Given the description of an element on the screen output the (x, y) to click on. 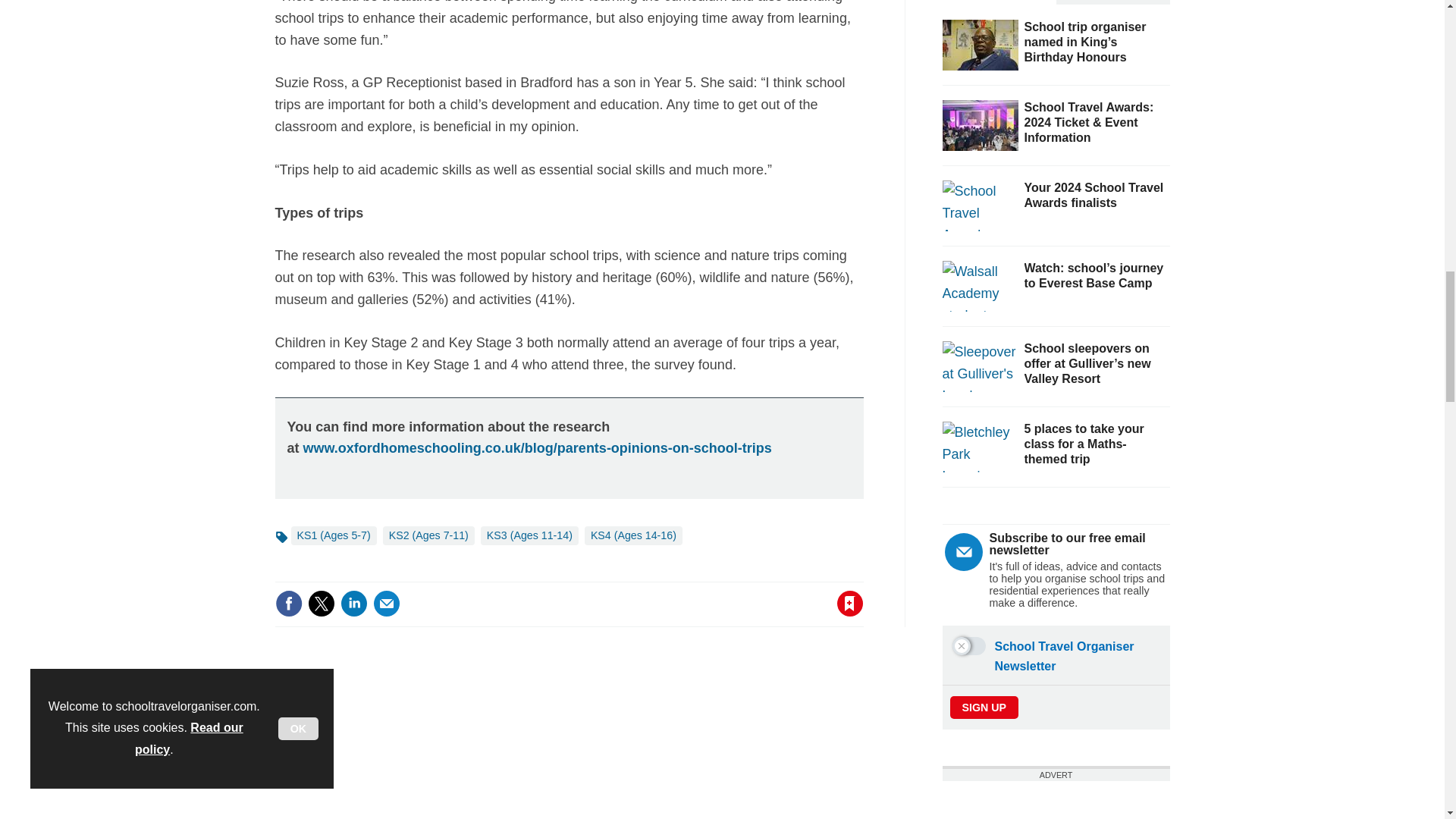
Oxford Home Schooling (536, 447)
3rd party ad content (1055, 800)
Email this article (386, 603)
Share this on Facebook (288, 603)
Share this on LinkedIn (352, 603)
